Given the description of an element on the screen output the (x, y) to click on. 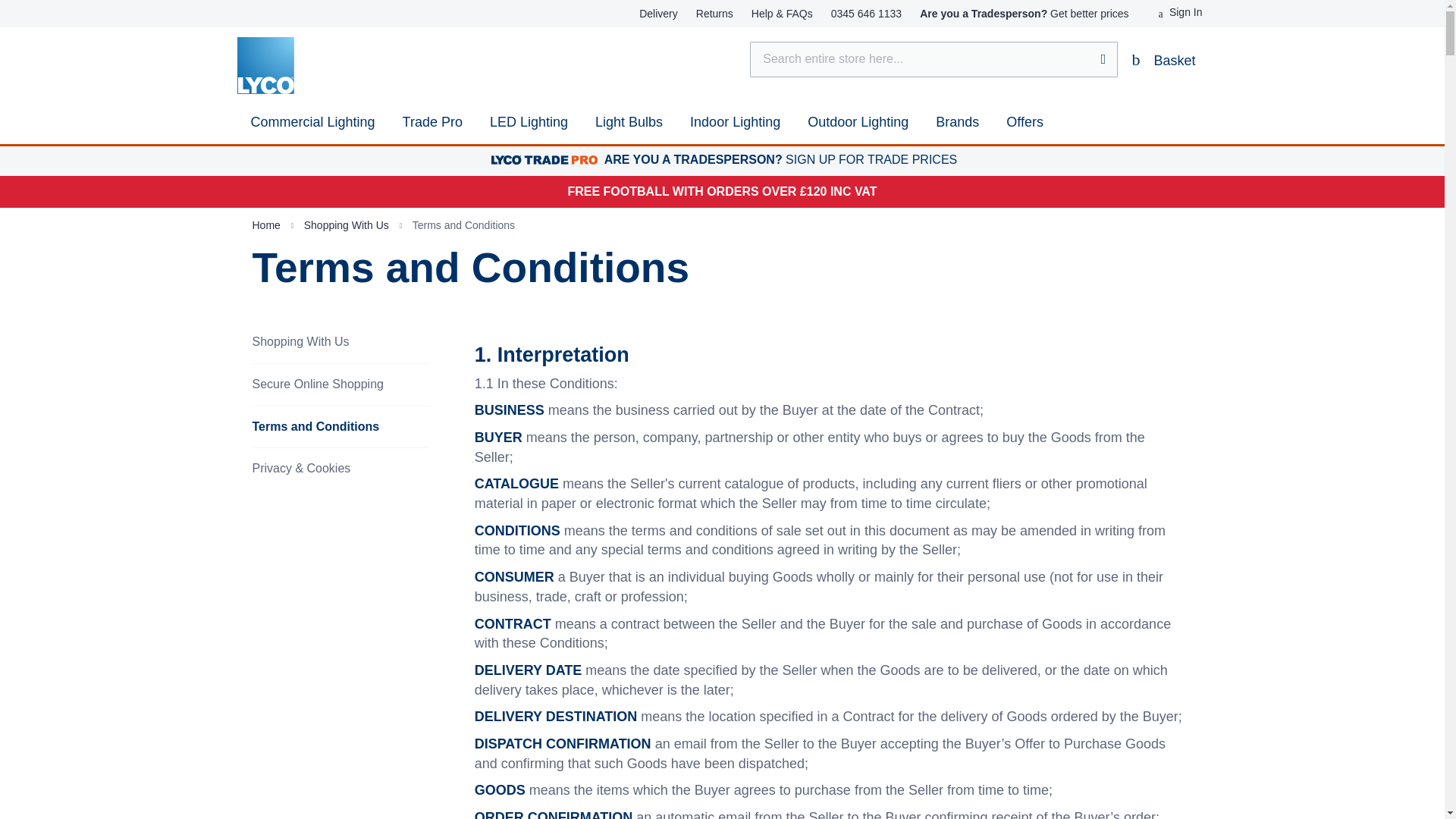
Shopping With Us (347, 224)
Lyco (264, 65)
Sign In (1180, 12)
Returns (714, 14)
Trade Pro (432, 122)
Basket (1161, 59)
Are you a Tradesperson? Get better prices (1024, 14)
0345 646 1133 (866, 14)
LED Lighting (528, 122)
Delivery (657, 14)
Go to Home Page (266, 224)
Commercial Lighting (311, 122)
